Given the description of an element on the screen output the (x, y) to click on. 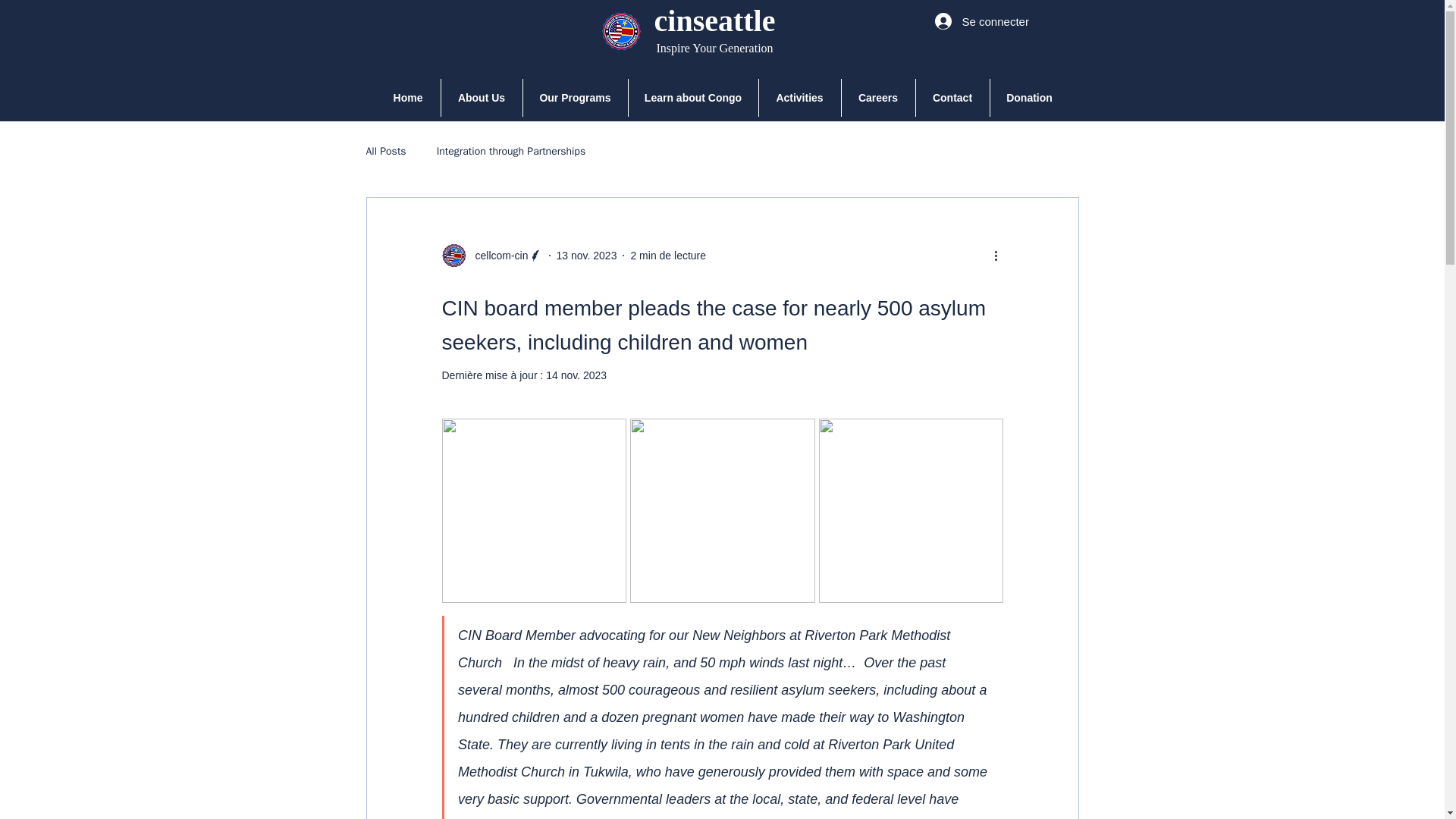
14 nov. 2023 (576, 375)
Activities (799, 97)
Our Programs (574, 97)
cellcom-cin (491, 255)
Donation (1029, 97)
Careers (878, 97)
cellcom-cin (496, 254)
Learn about Congo (692, 97)
Home (408, 97)
Contact (952, 97)
About Us (481, 97)
All Posts (385, 151)
13 nov. 2023 (586, 254)
2 min de lecture (668, 254)
logo cin.png (620, 35)
